Given the description of an element on the screen output the (x, y) to click on. 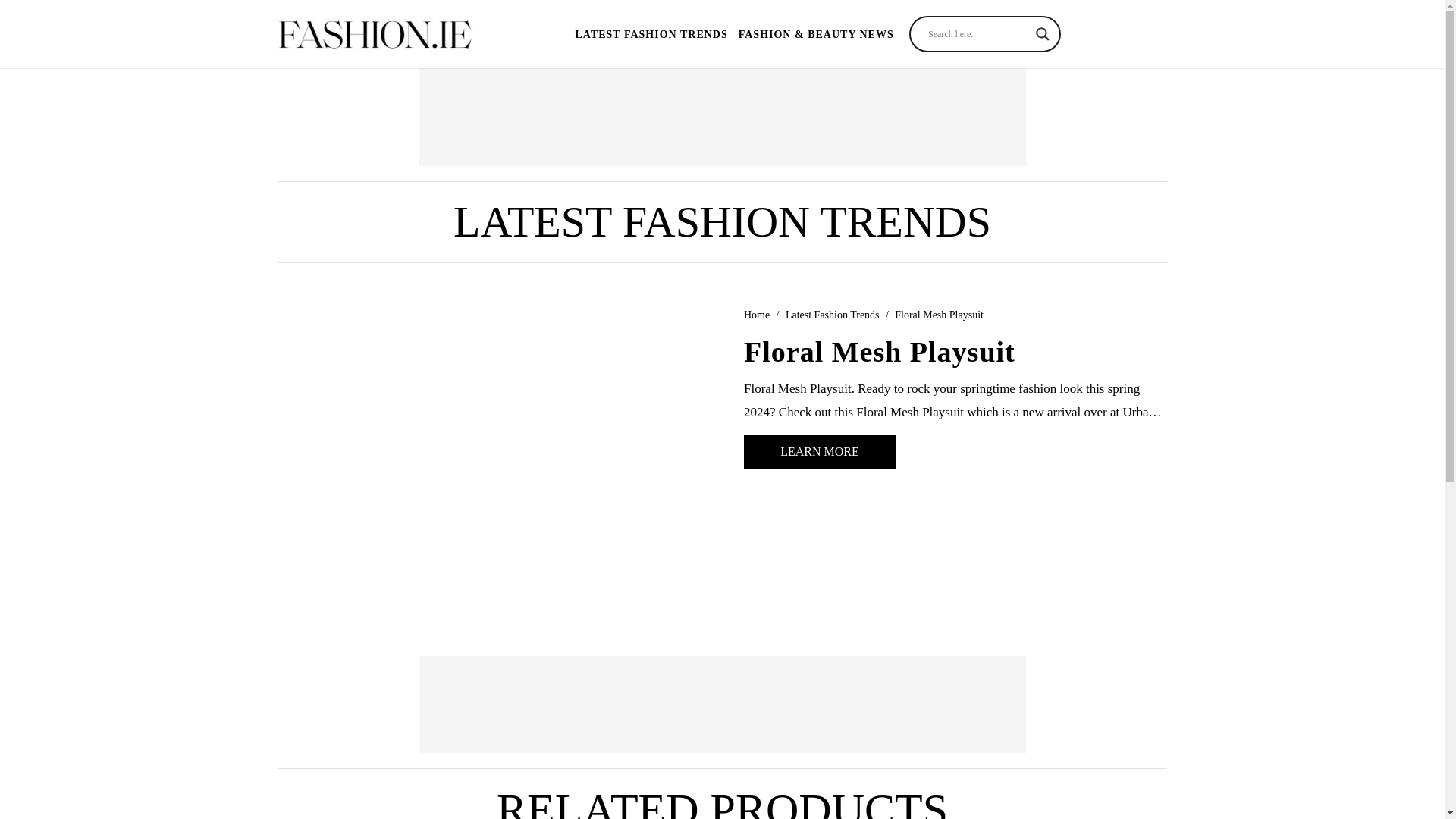
Home (757, 315)
LEARN MORE (819, 451)
LATEST FASHION TRENDS (650, 33)
Latest Fashion Trends (832, 315)
LATEST FASHION TRENDS (721, 221)
